Given the description of an element on the screen output the (x, y) to click on. 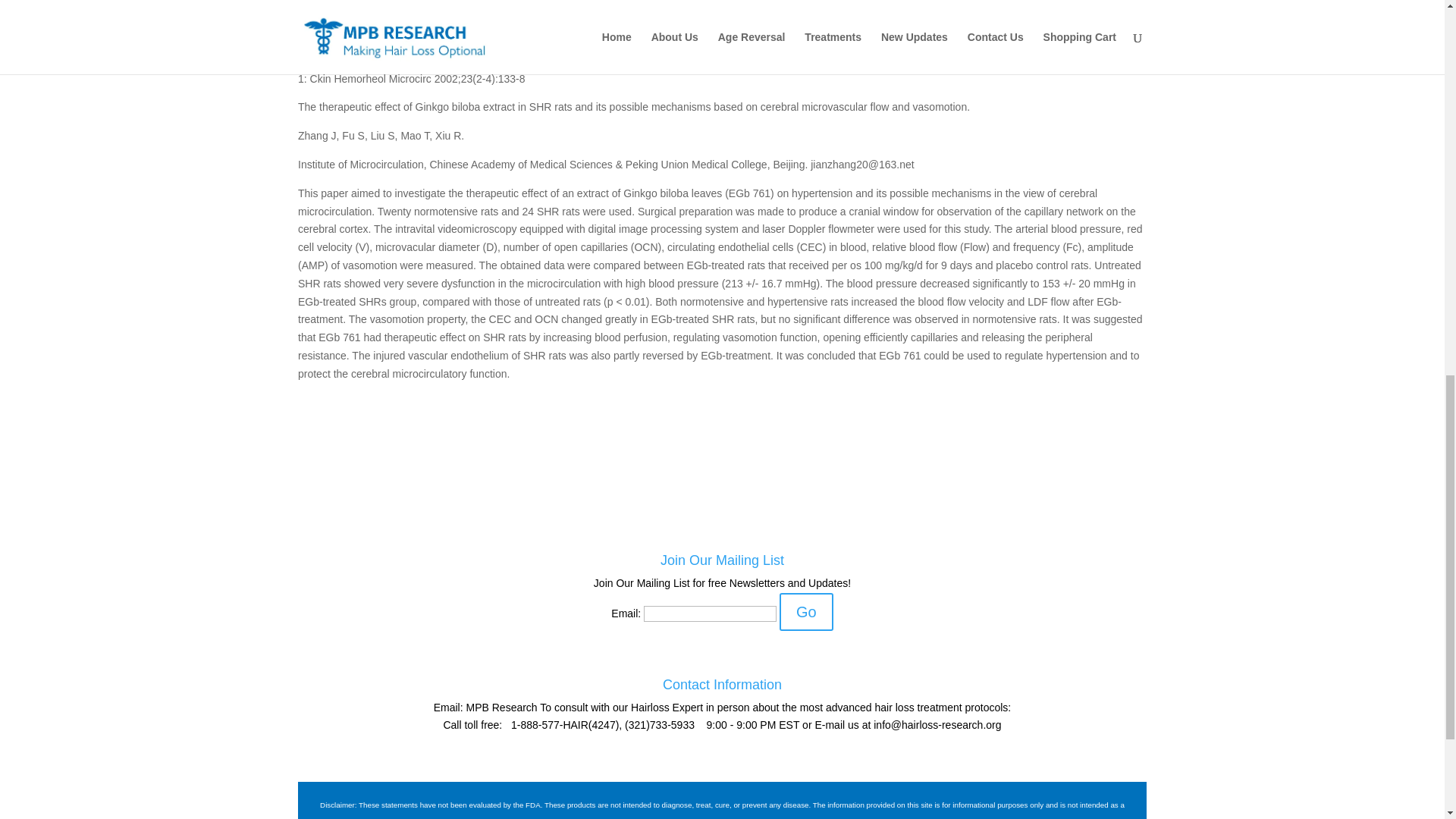
Go (805, 611)
Go (805, 611)
